Given the description of an element on the screen output the (x, y) to click on. 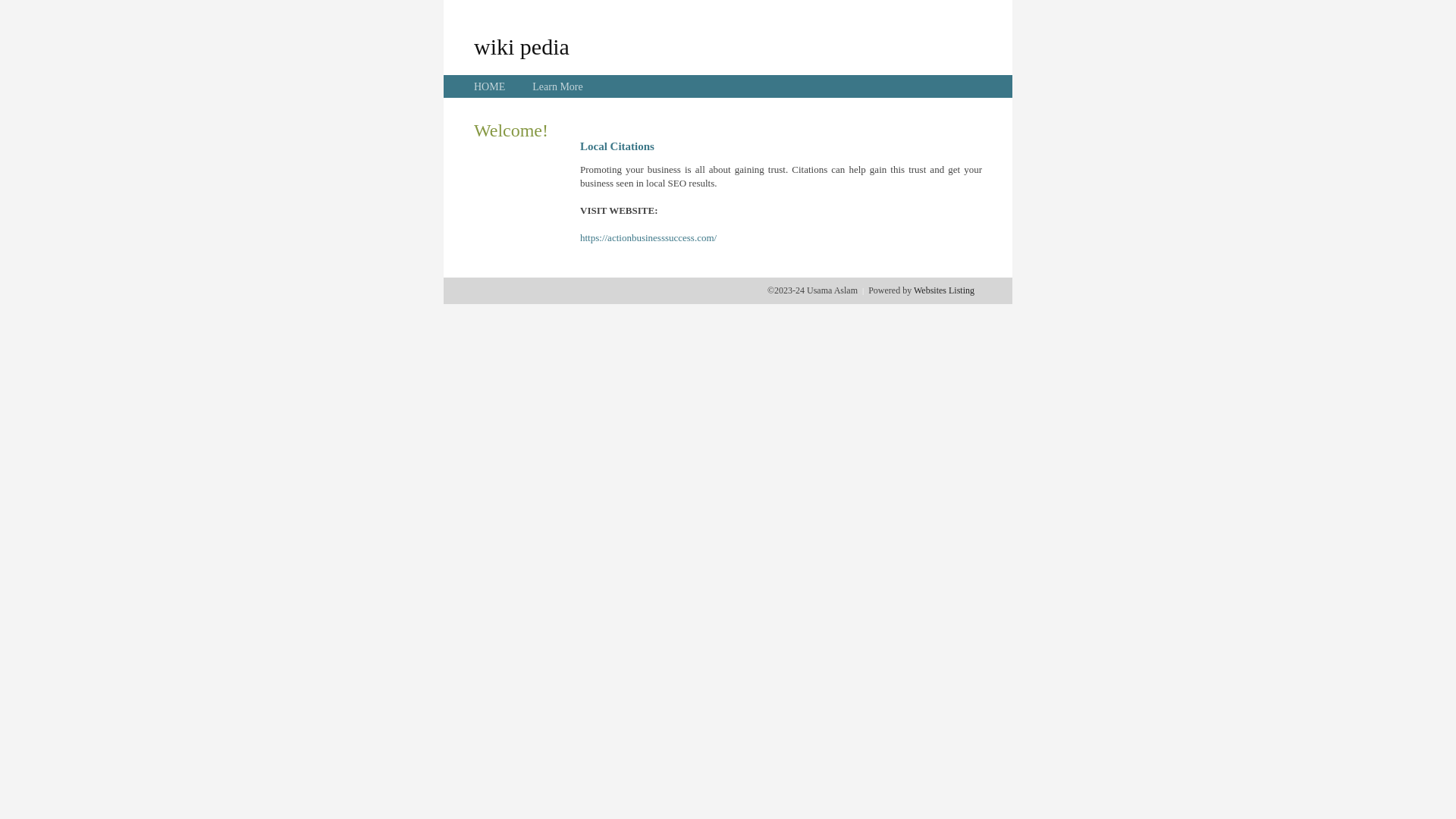
wiki pedia Element type: text (521, 46)
HOME Element type: text (489, 86)
Websites Listing Element type: text (943, 290)
Learn More Element type: text (557, 86)
https://actionbusinesssuccess.com/ Element type: text (648, 237)
